Given the description of an element on the screen output the (x, y) to click on. 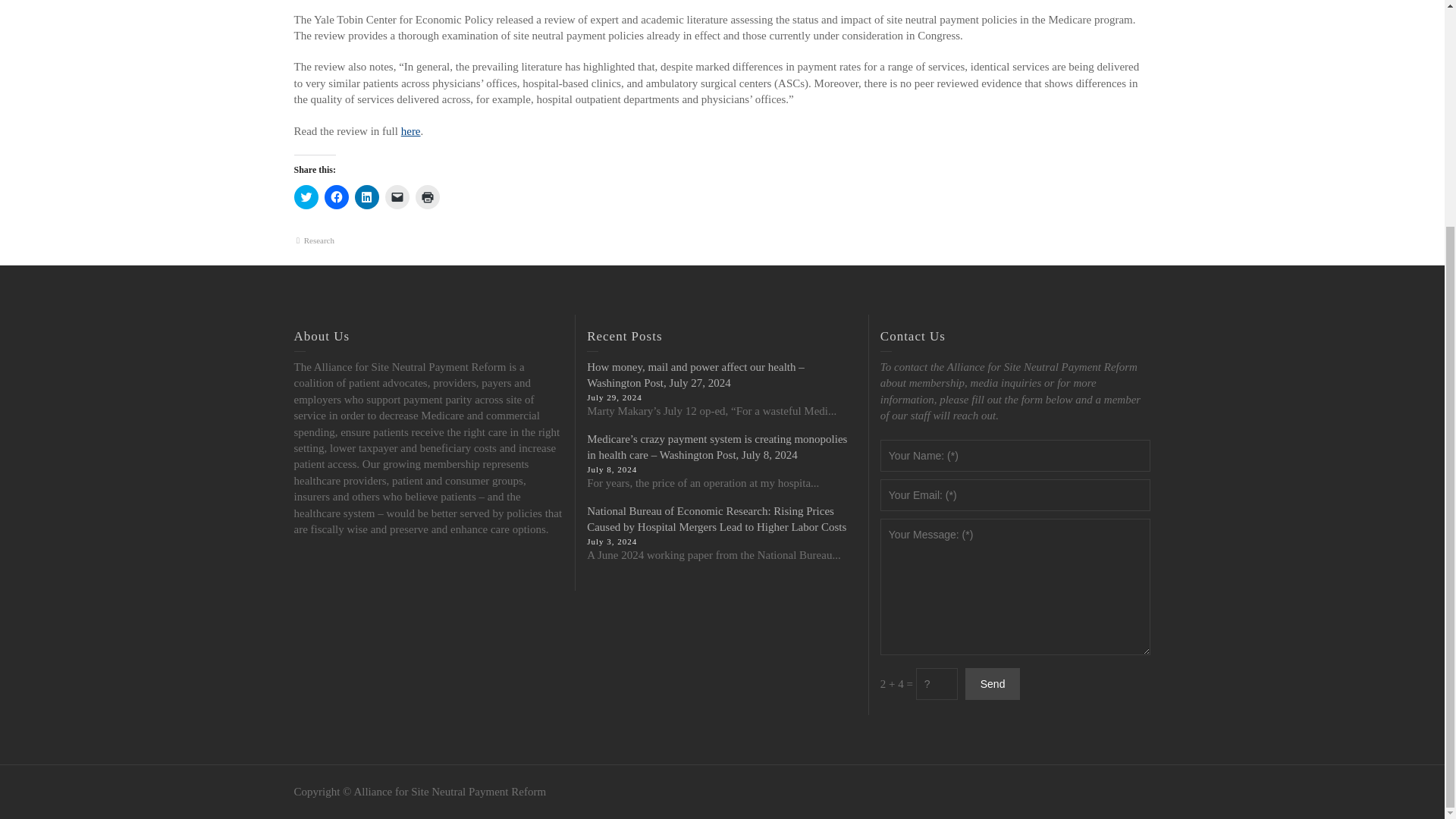
Send (992, 684)
here (410, 131)
Research (319, 239)
Click to share on Twitter (306, 197)
